Given the description of an element on the screen output the (x, y) to click on. 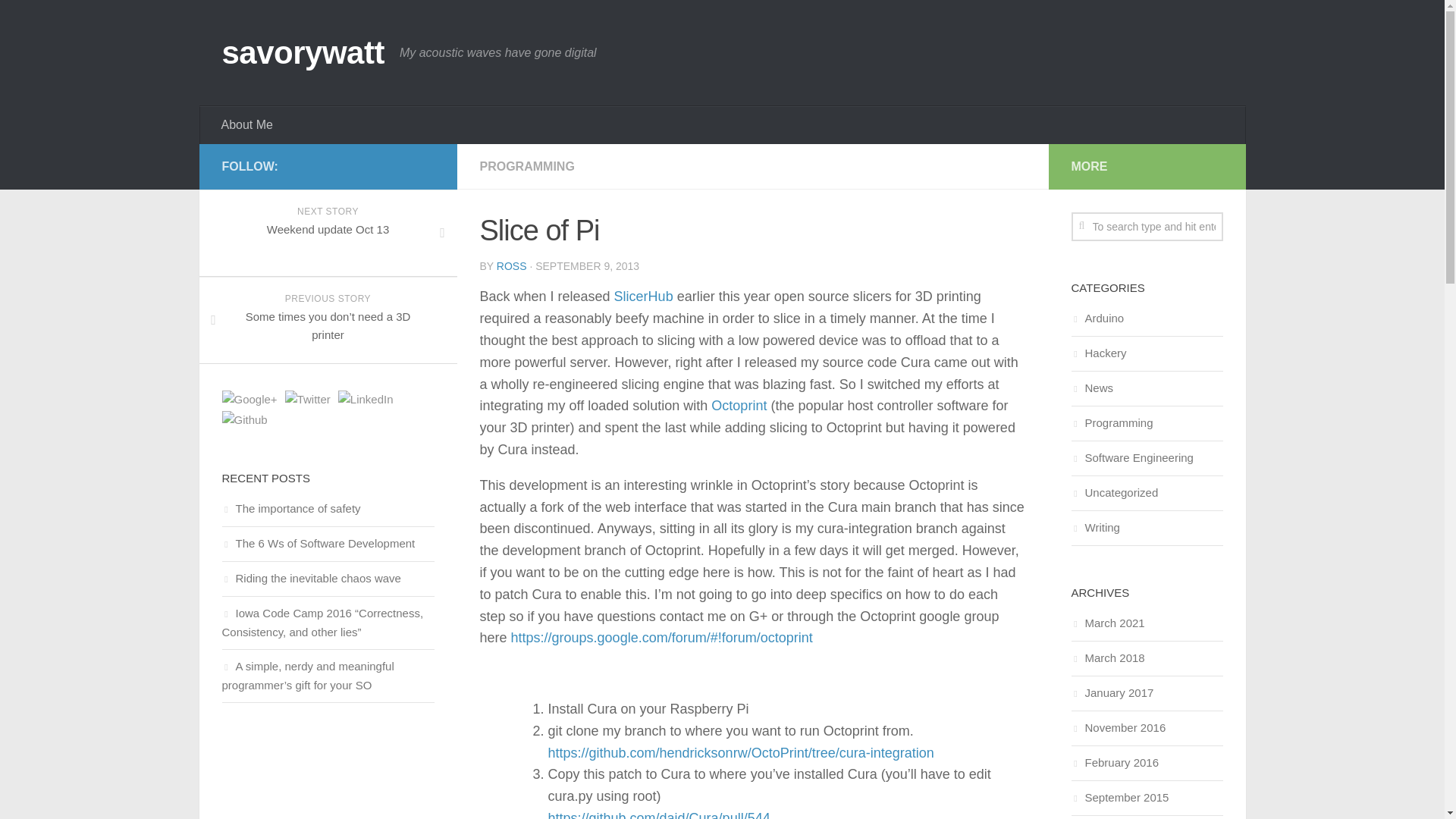
Software Engineering (1131, 457)
To search type and hit enter (1146, 226)
 Github (243, 420)
Writing (1094, 526)
The importance of safety (290, 508)
The 6 Ws of Software Development (317, 543)
 LinkedIn (365, 399)
Posts by Ross (511, 265)
About Me (247, 125)
Riding the inevitable chaos wave (310, 577)
